Given the description of an element on the screen output the (x, y) to click on. 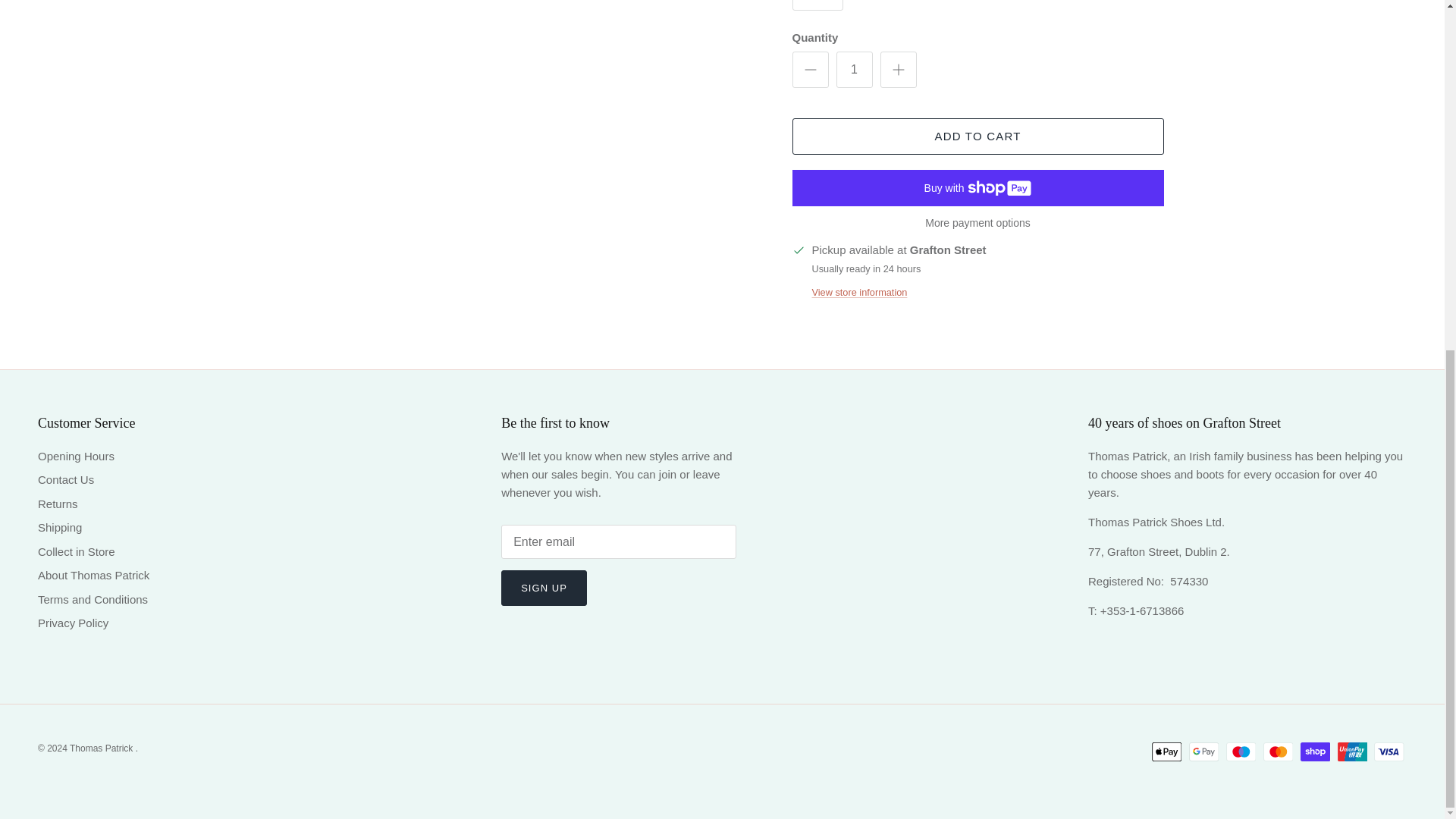
Mastercard (1277, 751)
Google Pay (1203, 751)
Union Pay (1352, 751)
Apple Pay (1166, 751)
1 (853, 69)
Minus (809, 69)
Visa (1388, 751)
Plus (897, 69)
Shop Pay (1315, 751)
Maestro (1240, 751)
